Given the description of an element on the screen output the (x, y) to click on. 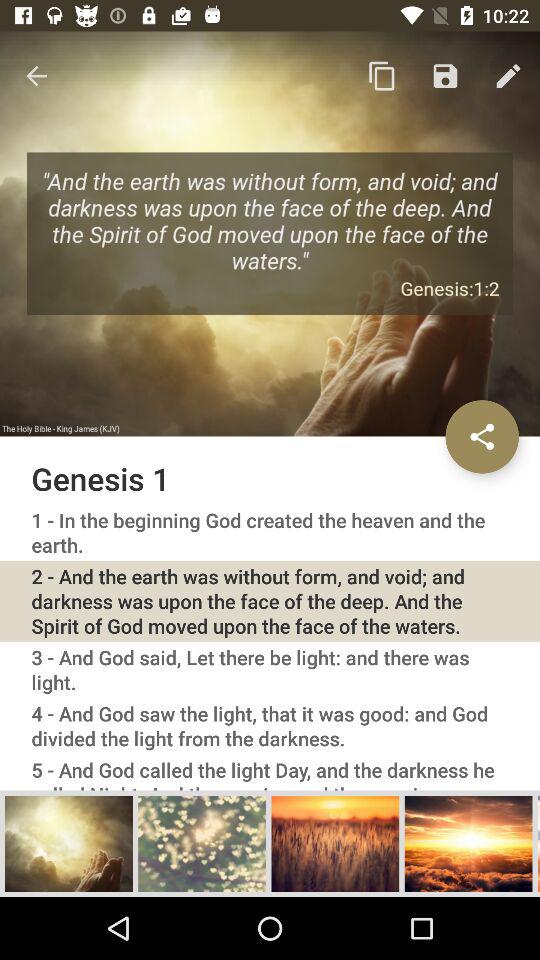
tap item above the genesis 1 icon (36, 75)
